Given the description of an element on the screen output the (x, y) to click on. 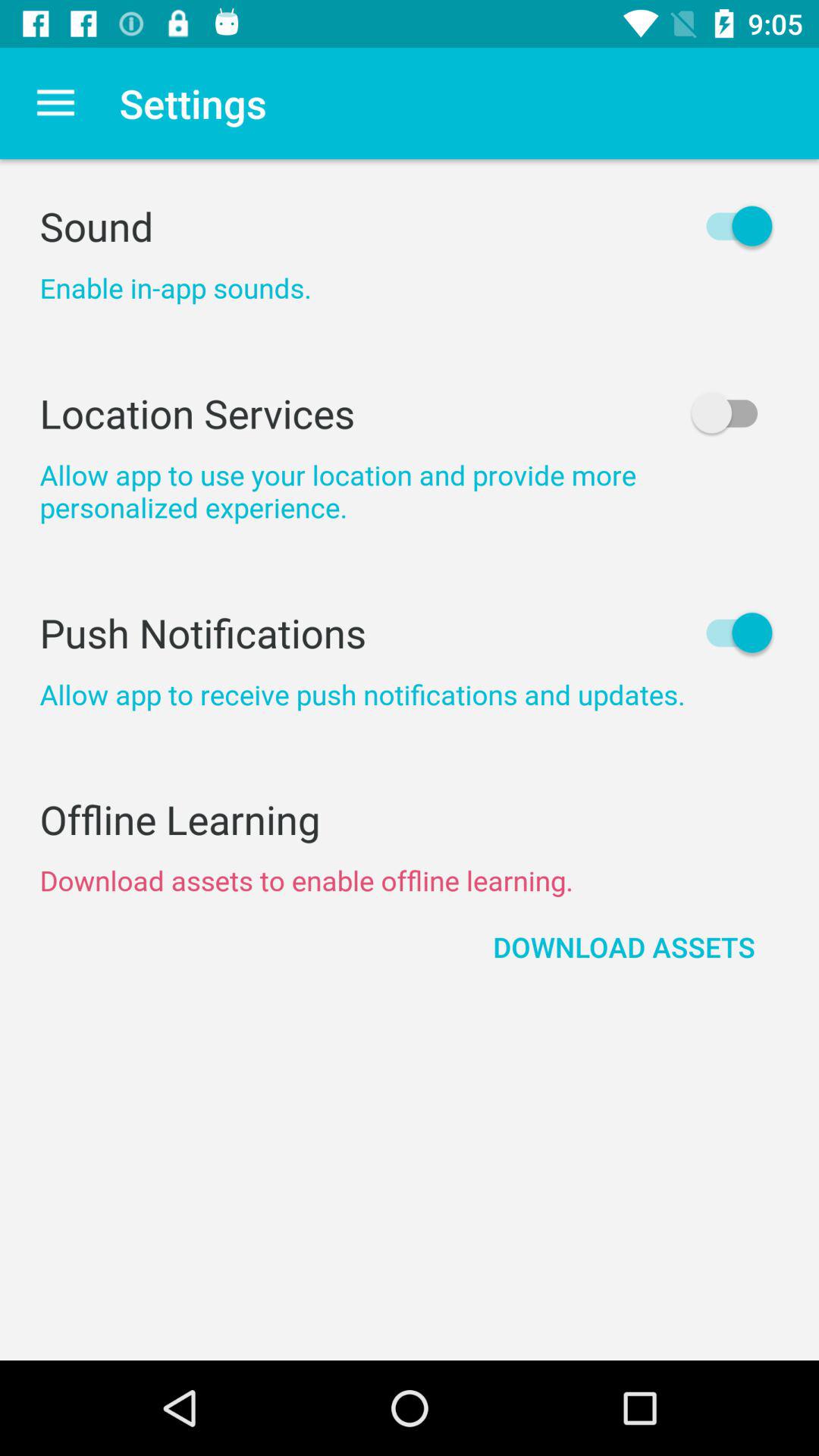
press item above the allow app to item (409, 413)
